Given the description of an element on the screen output the (x, y) to click on. 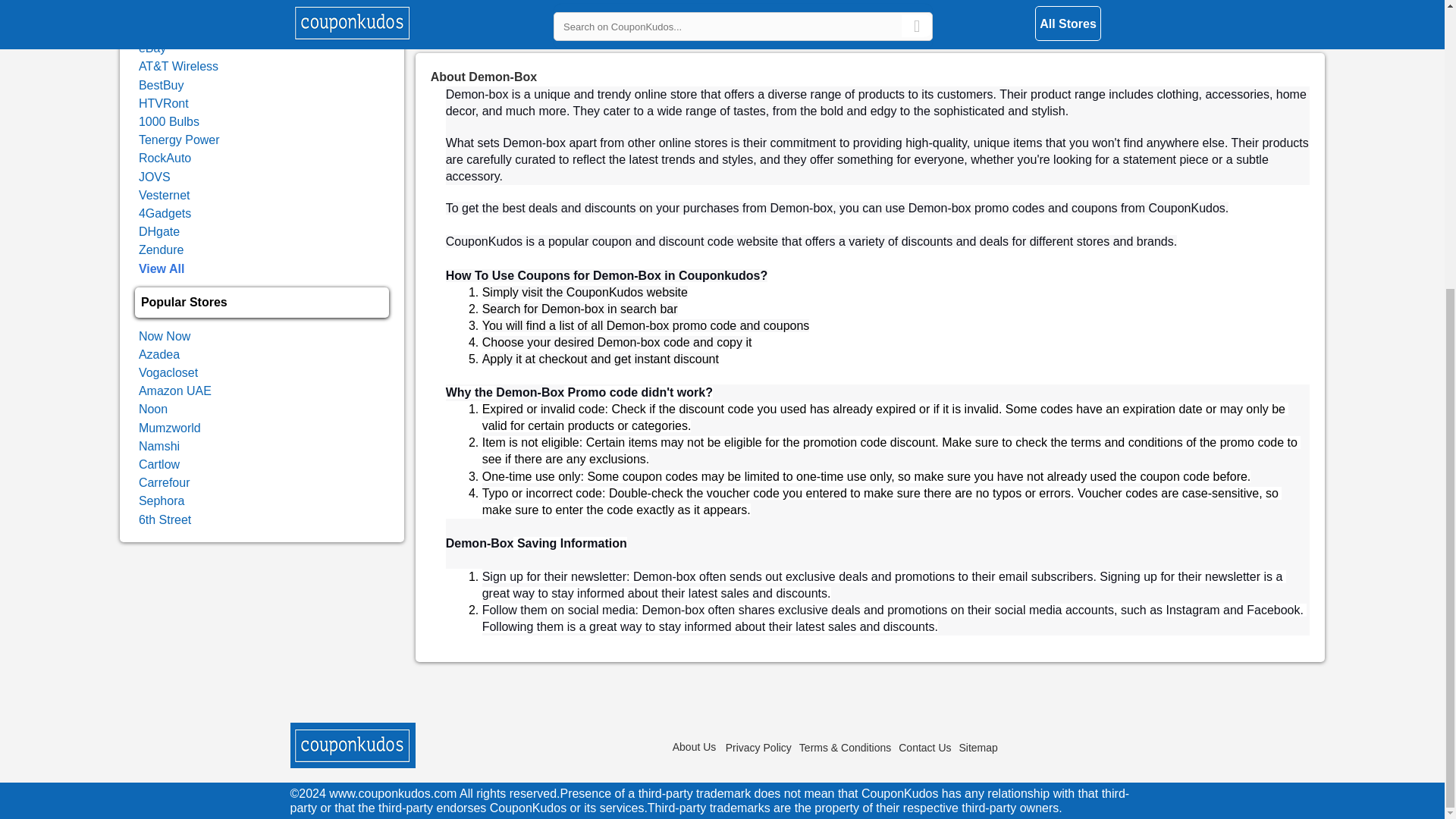
Zendure (161, 249)
Cartlow (158, 463)
Now Now (164, 336)
1000 Bulbs (168, 121)
RockAuto (164, 157)
Tenergy Power (178, 139)
Namshi (158, 445)
Mumzworld (169, 427)
Amazon UAE (174, 390)
Back Market (172, 29)
Sephora (161, 500)
Vesternet (164, 195)
eBay (151, 47)
Azadea (158, 354)
4Gadgets (164, 213)
